Given the description of an element on the screen output the (x, y) to click on. 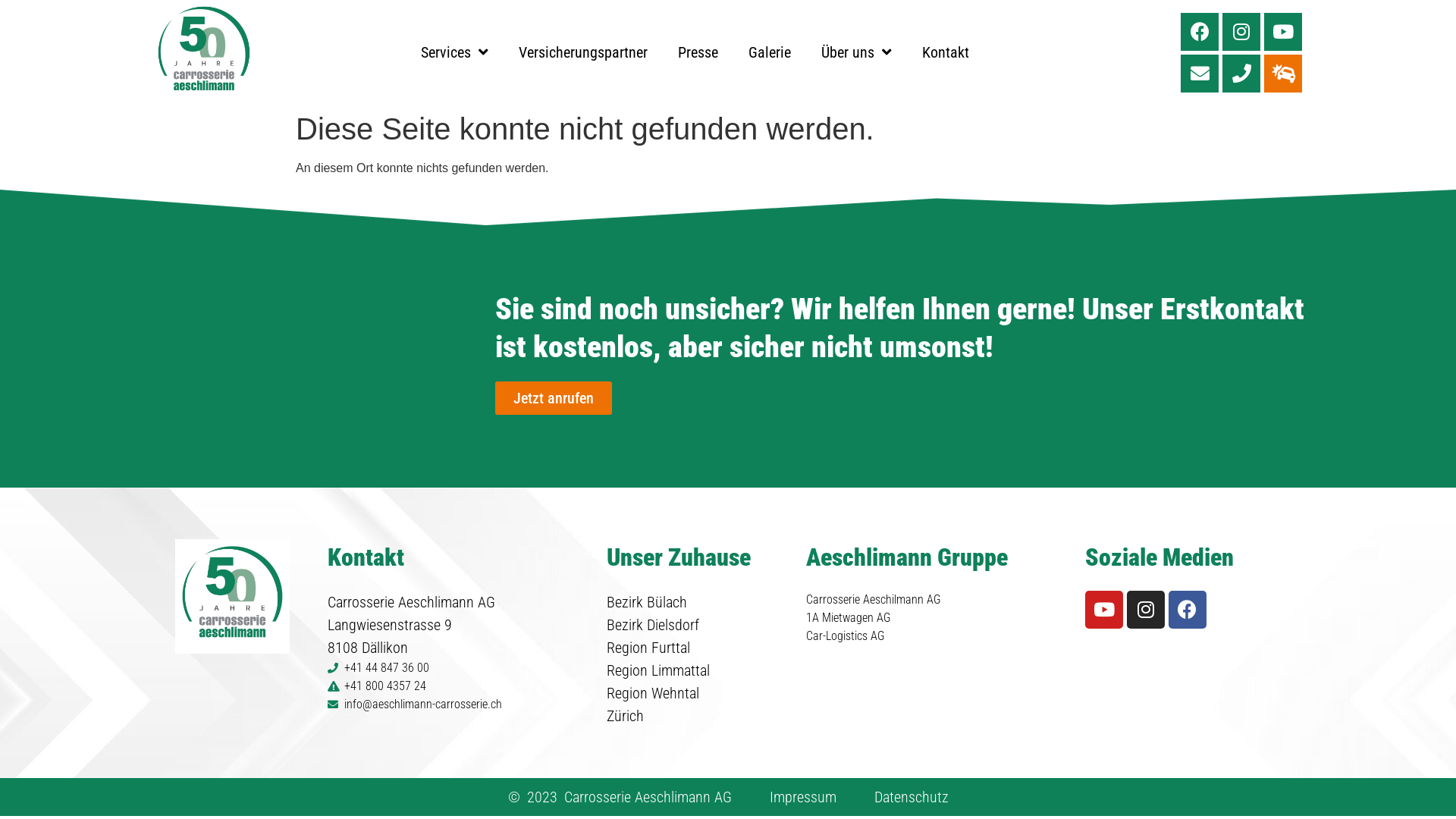
1A Mietwagen AG Element type: text (938, 617)
+41 800 4357 24 Element type: text (459, 686)
Car-Logistics AG Element type: text (938, 636)
Carrosserie Aeschilmann AG Element type: text (938, 599)
Impressum Element type: text (801, 796)
Versicherungspartner Element type: text (582, 51)
Datenschutz Element type: text (910, 796)
Presse Element type: text (697, 51)
Kontakt Element type: text (945, 51)
info@aeschlimann-carrosserie.ch Element type: text (459, 704)
Galerie Element type: text (769, 51)
+41 44 847 36 00 Element type: text (459, 667)
Services Element type: text (454, 51)
Jetzt anrufen Element type: text (553, 397)
